Given the description of an element on the screen output the (x, y) to click on. 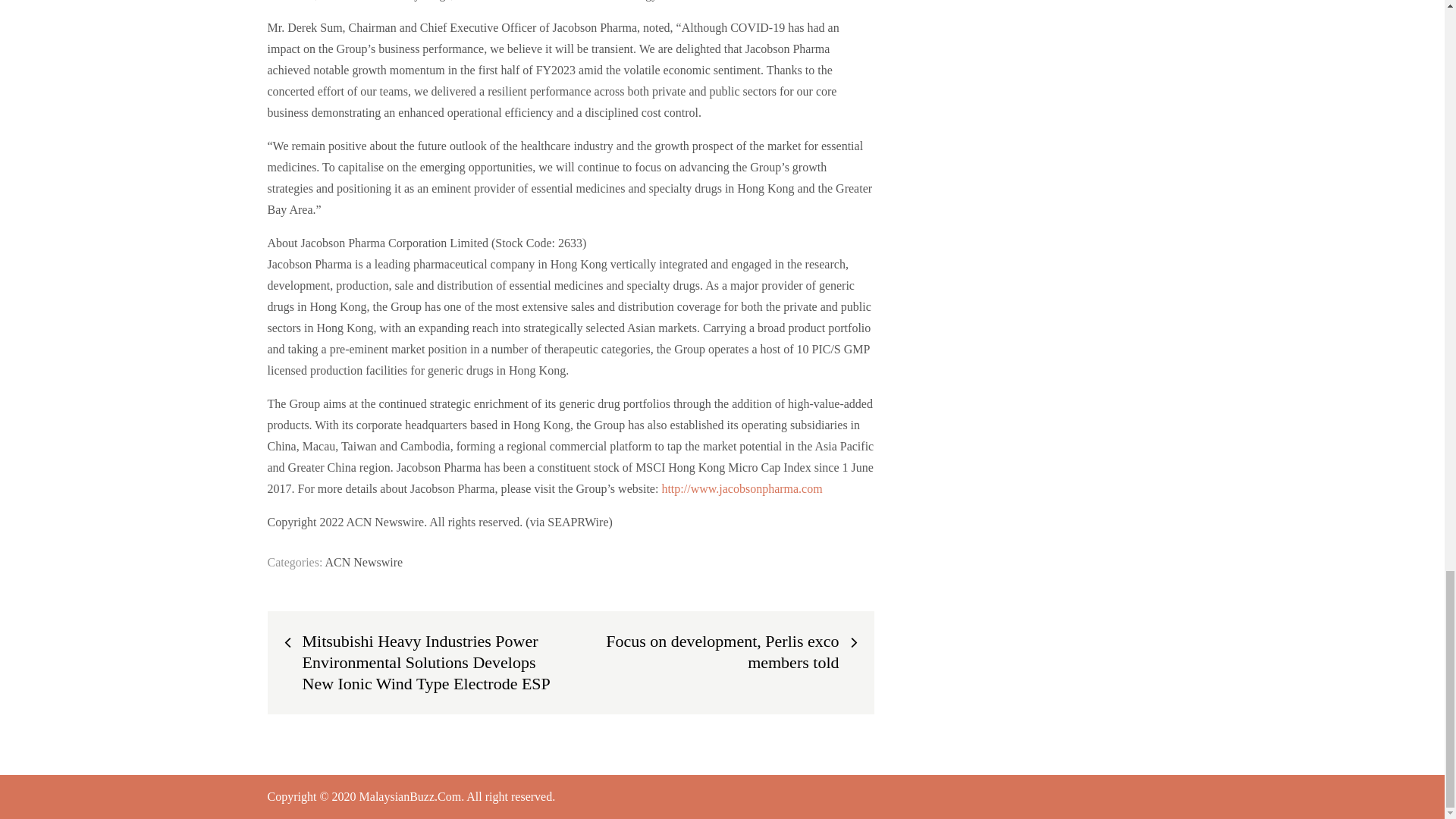
ACN Newswire (363, 562)
